Given the description of an element on the screen output the (x, y) to click on. 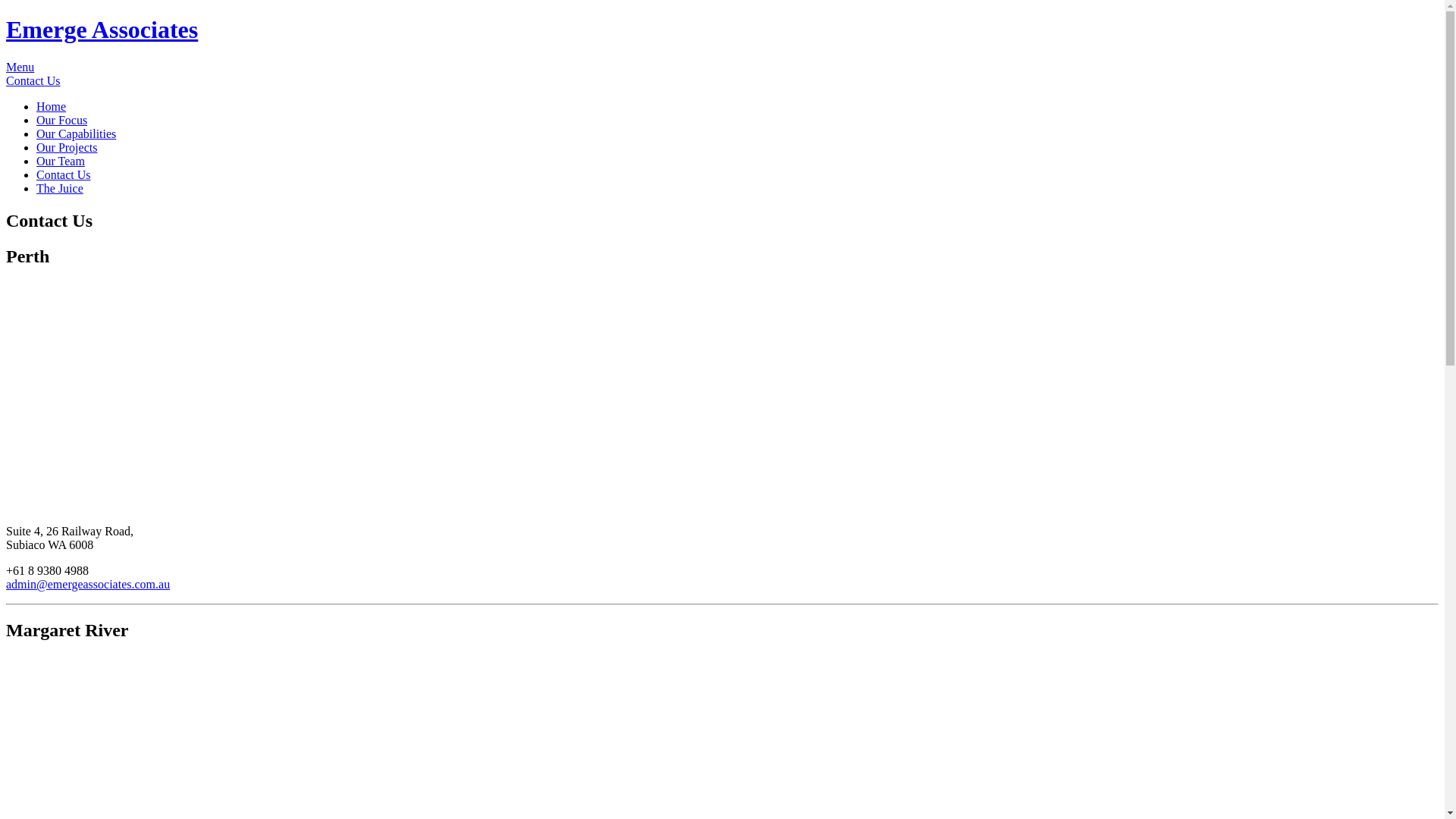
Our Team Element type: text (60, 160)
Menu Element type: text (722, 73)
The Juice Element type: text (59, 188)
Our Focus Element type: text (61, 119)
Our Capabilities Element type: text (76, 133)
Our Projects Element type: text (66, 147)
Home Element type: text (50, 106)
Contact Us Element type: text (63, 174)
admin@emergeassociates.com.au Element type: text (87, 583)
Contact Us Element type: text (33, 80)
Emerge Associates Element type: text (101, 29)
